Given the description of an element on the screen output the (x, y) to click on. 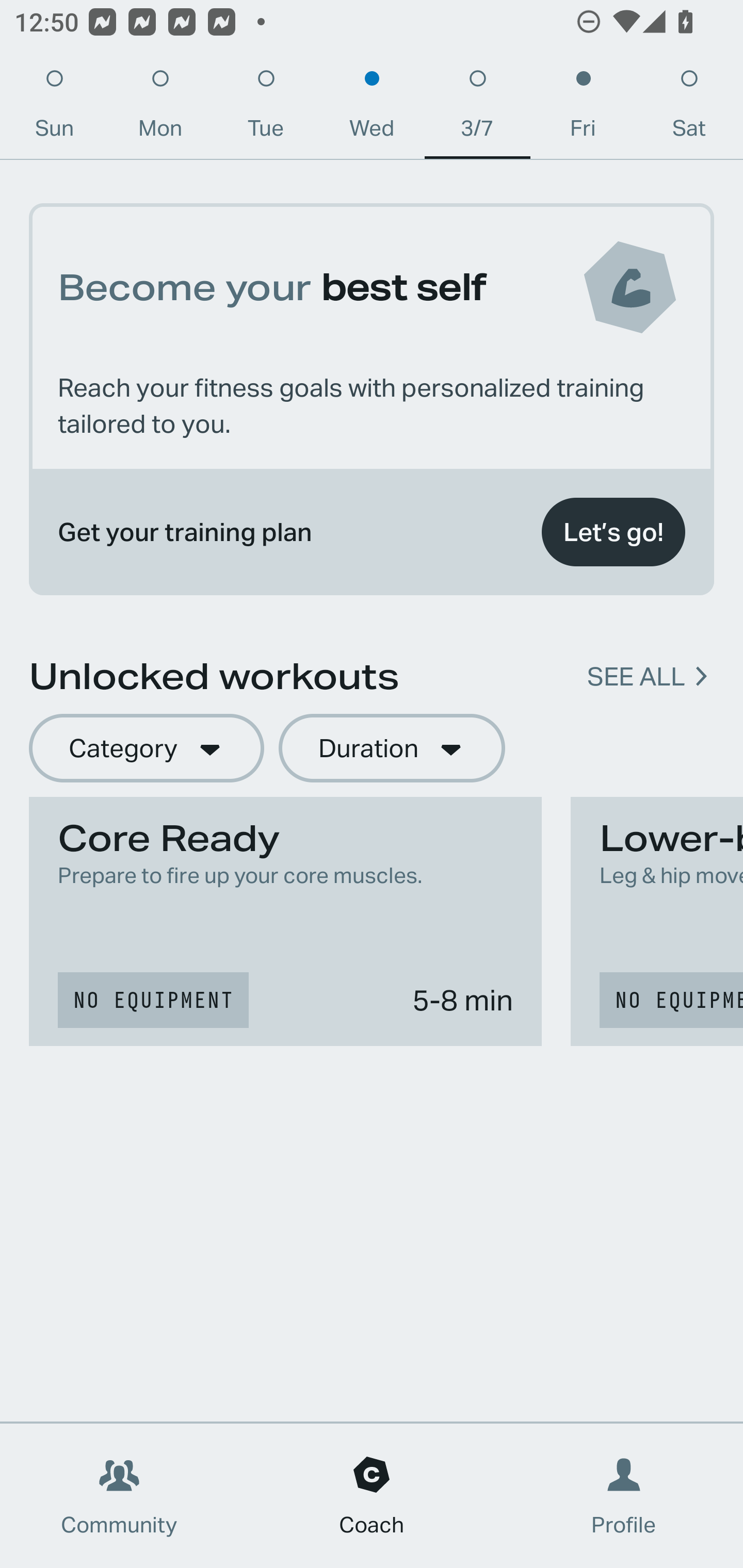
Sun (53, 108)
Mon (159, 108)
Tue (265, 108)
Wed (371, 108)
3/7 (477, 108)
Fri (583, 108)
Sat (689, 108)
Let’s go! (613, 532)
SEE ALL (635, 676)
Category (146, 748)
Duration (391, 748)
Community (119, 1495)
Profile (624, 1495)
